Given the description of an element on the screen output the (x, y) to click on. 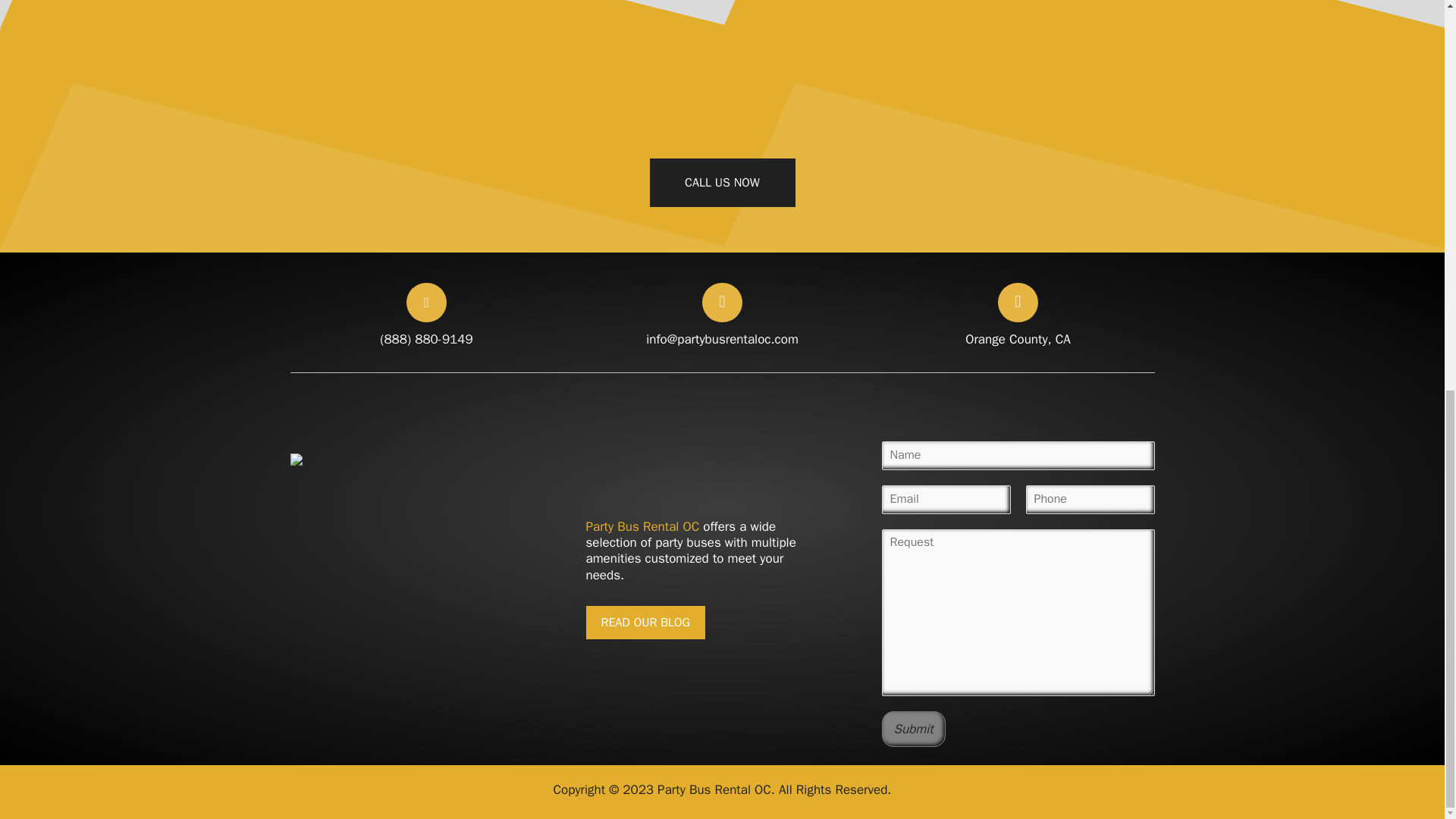
Party Bus Rental OC Logo (644, 622)
Submit (425, 589)
